Given the description of an element on the screen output the (x, y) to click on. 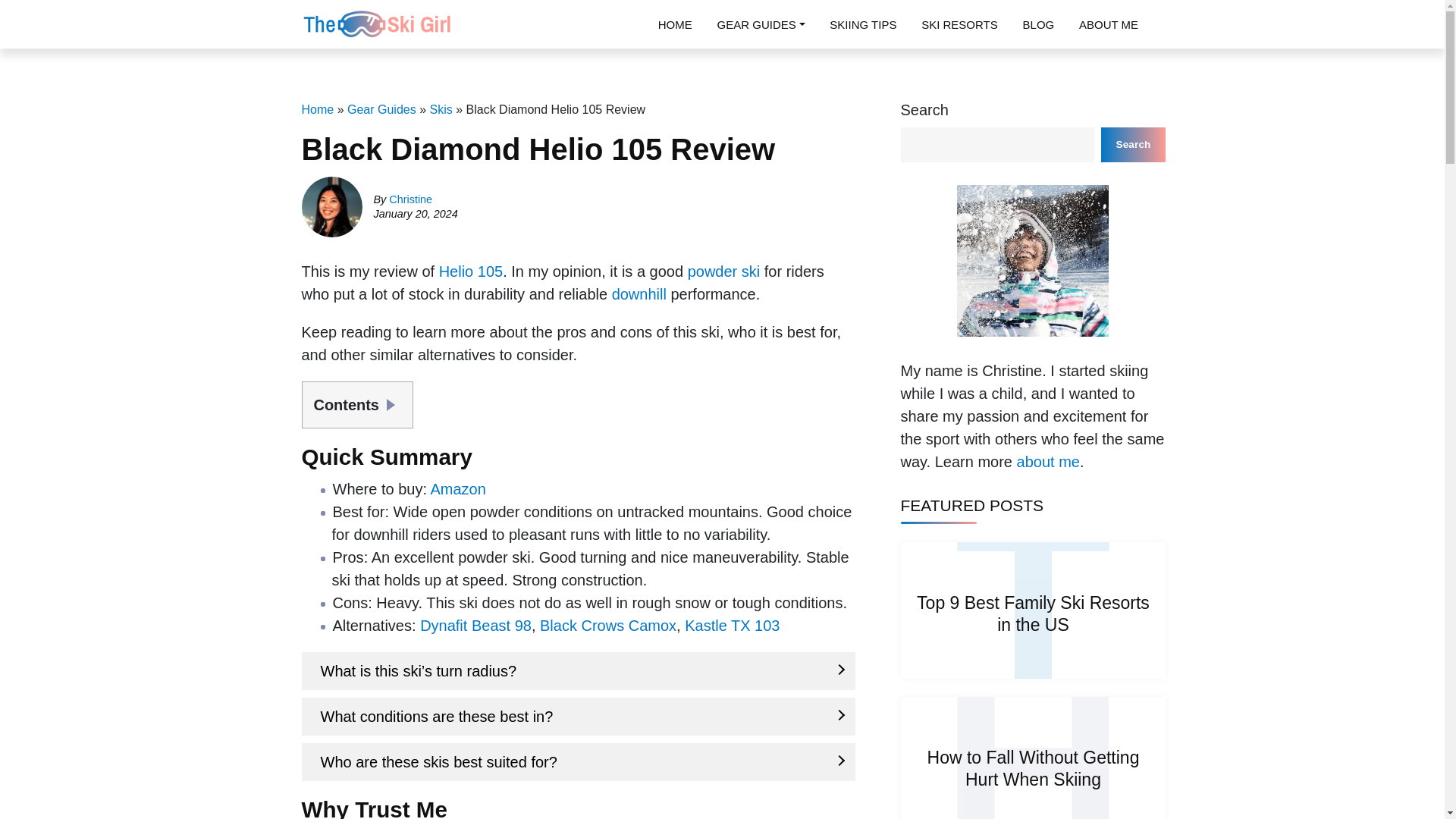
Home (674, 24)
Christine (410, 199)
SKIING TIPS (863, 24)
powder ski (723, 271)
About Me (1108, 24)
Home (317, 109)
ABOUT ME (1108, 24)
Gear Guides (381, 109)
SKI RESORTS (960, 24)
Skiing Tips (863, 24)
Blog (1037, 24)
downhill (638, 293)
Gear Guides (760, 24)
Helio 105 (471, 271)
BLOG (1037, 24)
